Given the description of an element on the screen output the (x, y) to click on. 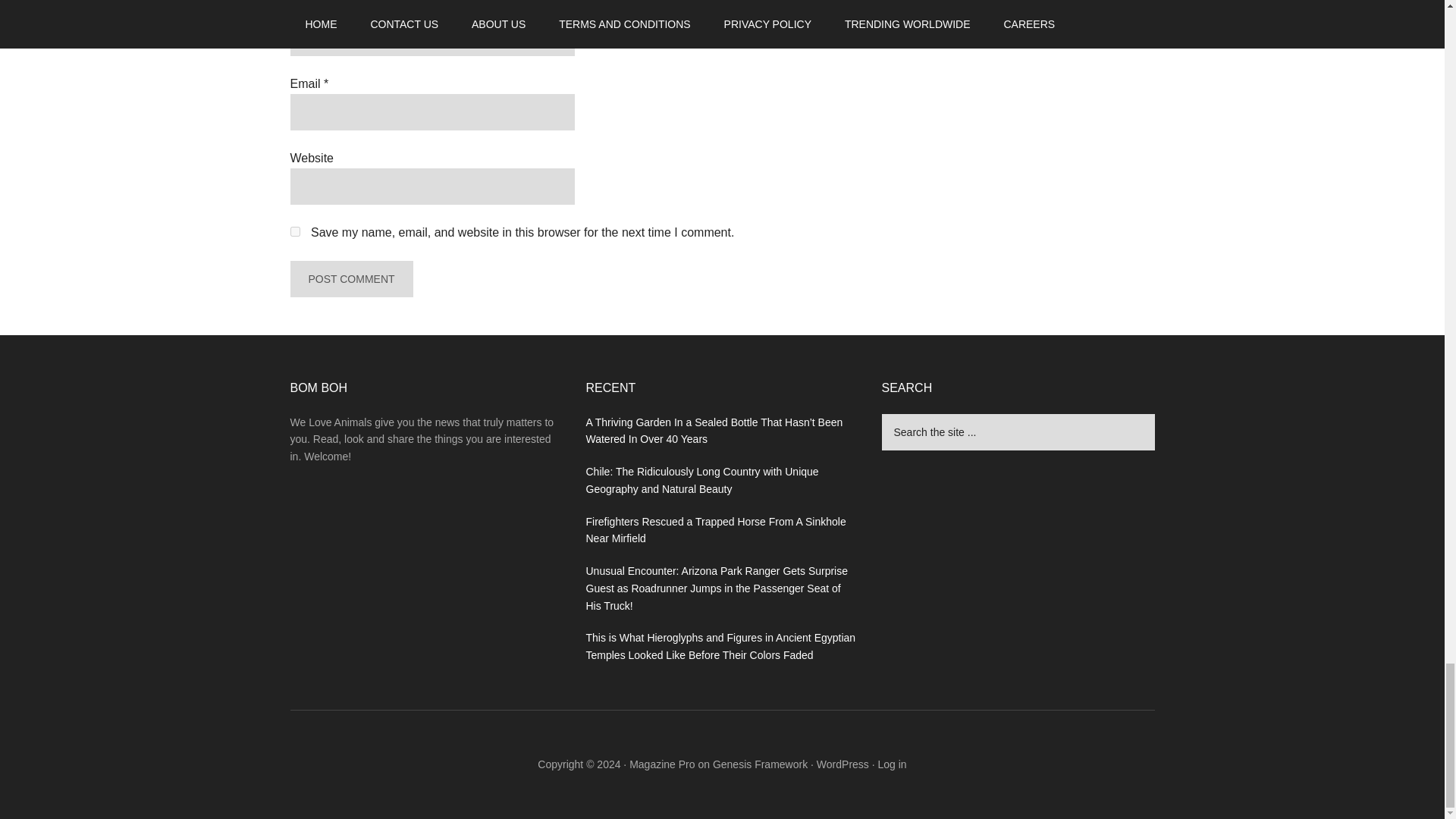
Post Comment (350, 279)
yes (294, 231)
Post Comment (350, 279)
